Given the description of an element on the screen output the (x, y) to click on. 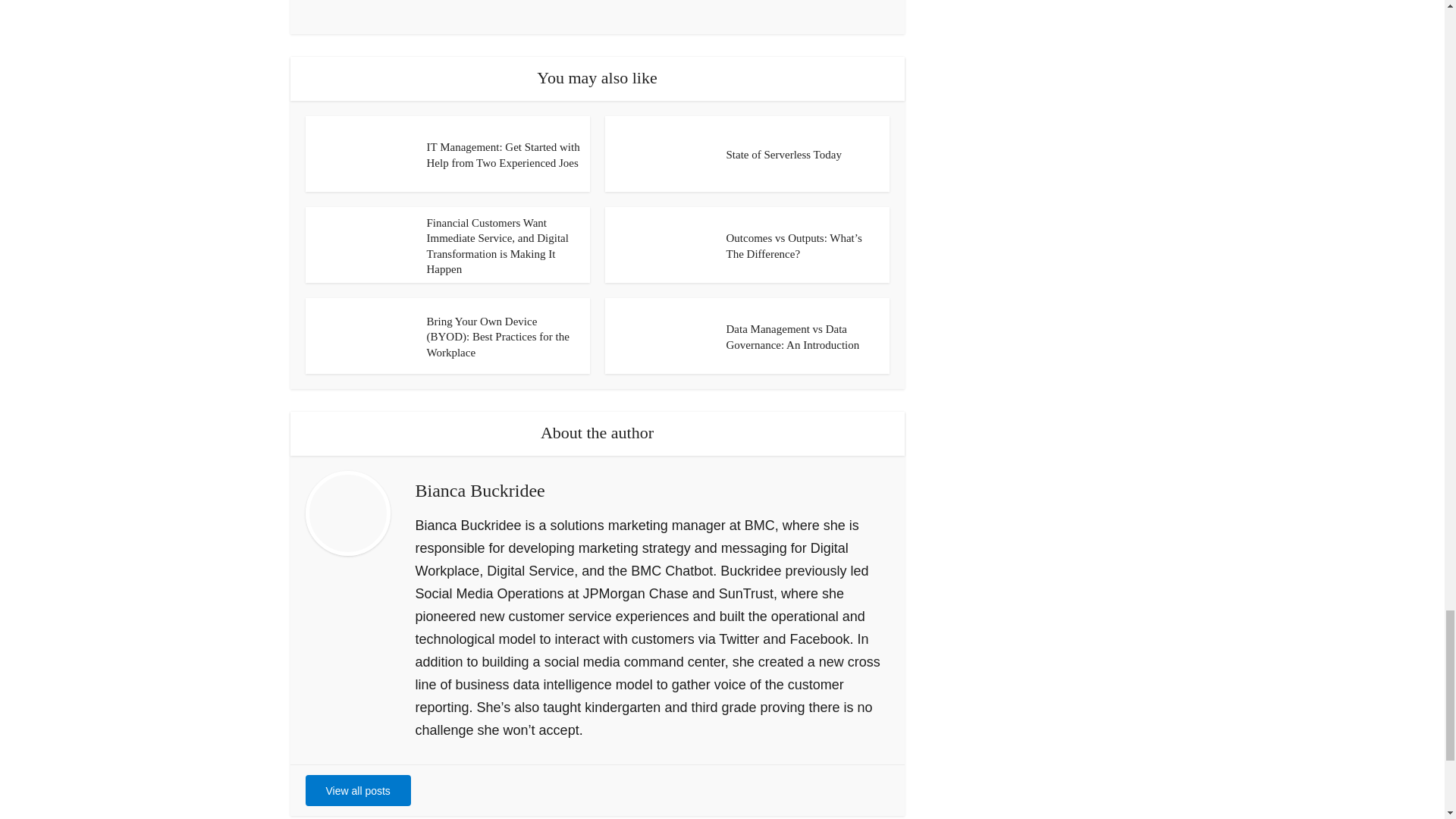
Data Management vs Data Governance: An Introduction (793, 336)
State of Serverless Today (783, 154)
